Given the description of an element on the screen output the (x, y) to click on. 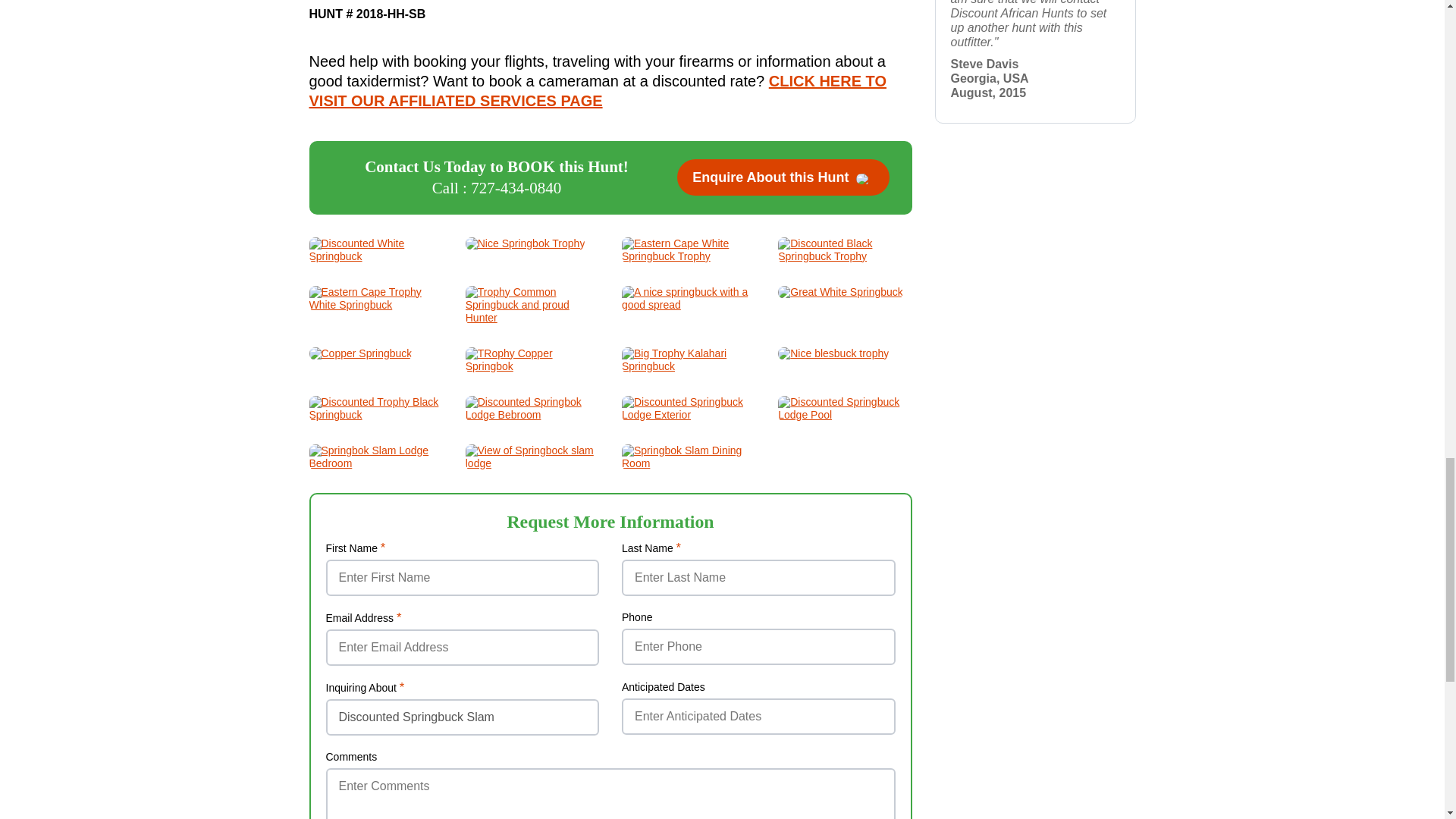
Discounted White Springbuck (375, 256)
Springbok Slam Dining Room (688, 463)
Nice blesbuck trophy (832, 353)
Discounted Springbuck Slam (462, 717)
TRophy Copper Springbok (531, 366)
Copper Springbuck (360, 353)
Discounted Springbok Lodge Bebroom (531, 414)
Springbok Slam Lodge Bedroom (375, 463)
Eastern Cape White Springbuck Trophy (688, 256)
Discounted Springbuck Lodge Pool (844, 414)
Discounted Springbuck Lodge Exterior (688, 414)
Discounted Trophy Black Springbuck (375, 414)
Discounted Black Springbuck Trophy (844, 256)
Great White Springbuck (839, 291)
Enquire About this Hunt (782, 176)
